Given the description of an element on the screen output the (x, y) to click on. 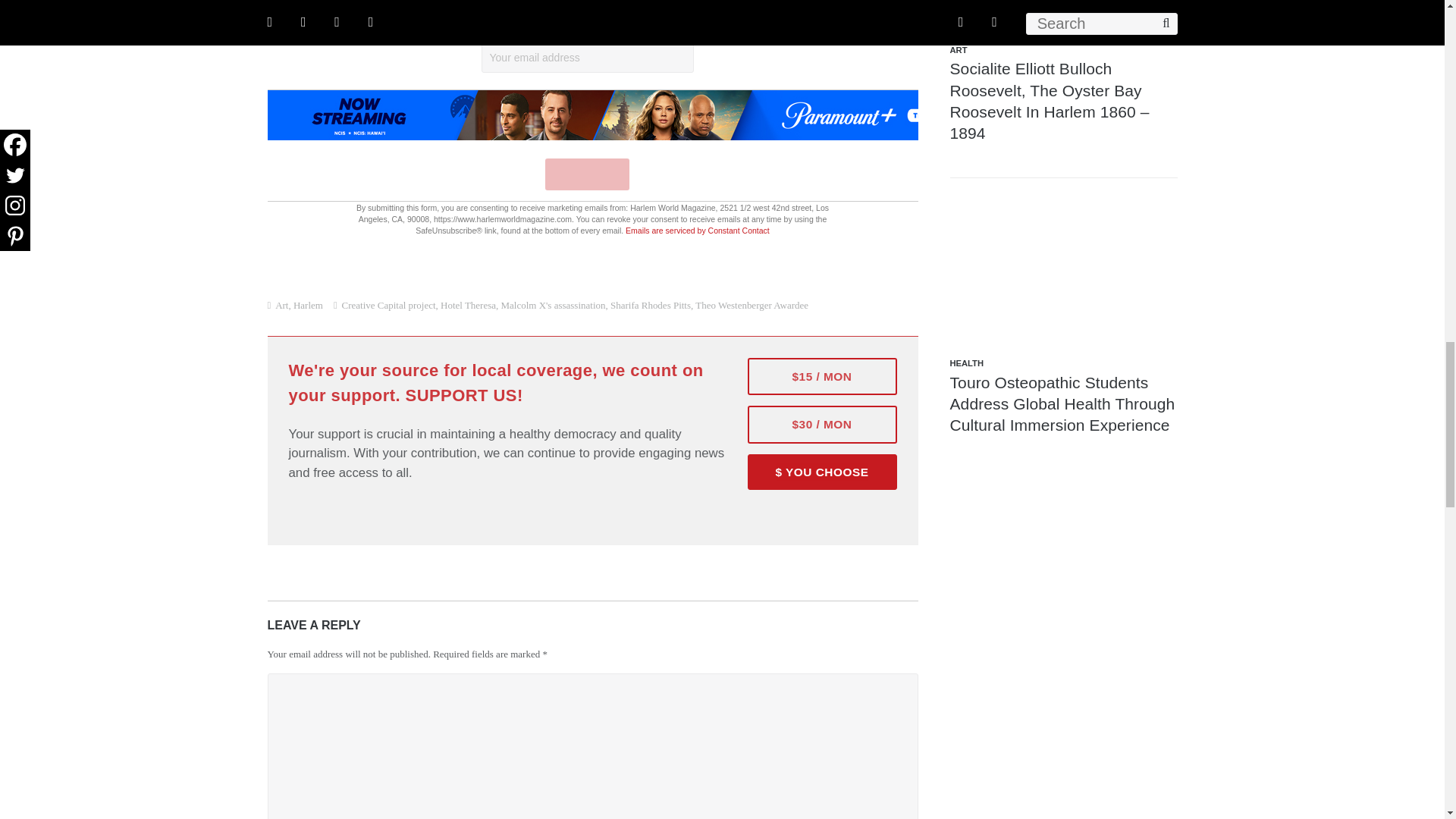
Sign up (586, 174)
Creative Capital project (388, 305)
Emails are serviced by Constant Contact (698, 230)
Sharifa Rhodes Pitts (650, 305)
Sign up (586, 174)
Hotel Theresa (468, 305)
Art (281, 305)
Malcolm X's assassination (552, 305)
Harlem (308, 305)
Theo Westenberger Awardee (751, 305)
